Given the description of an element on the screen output the (x, y) to click on. 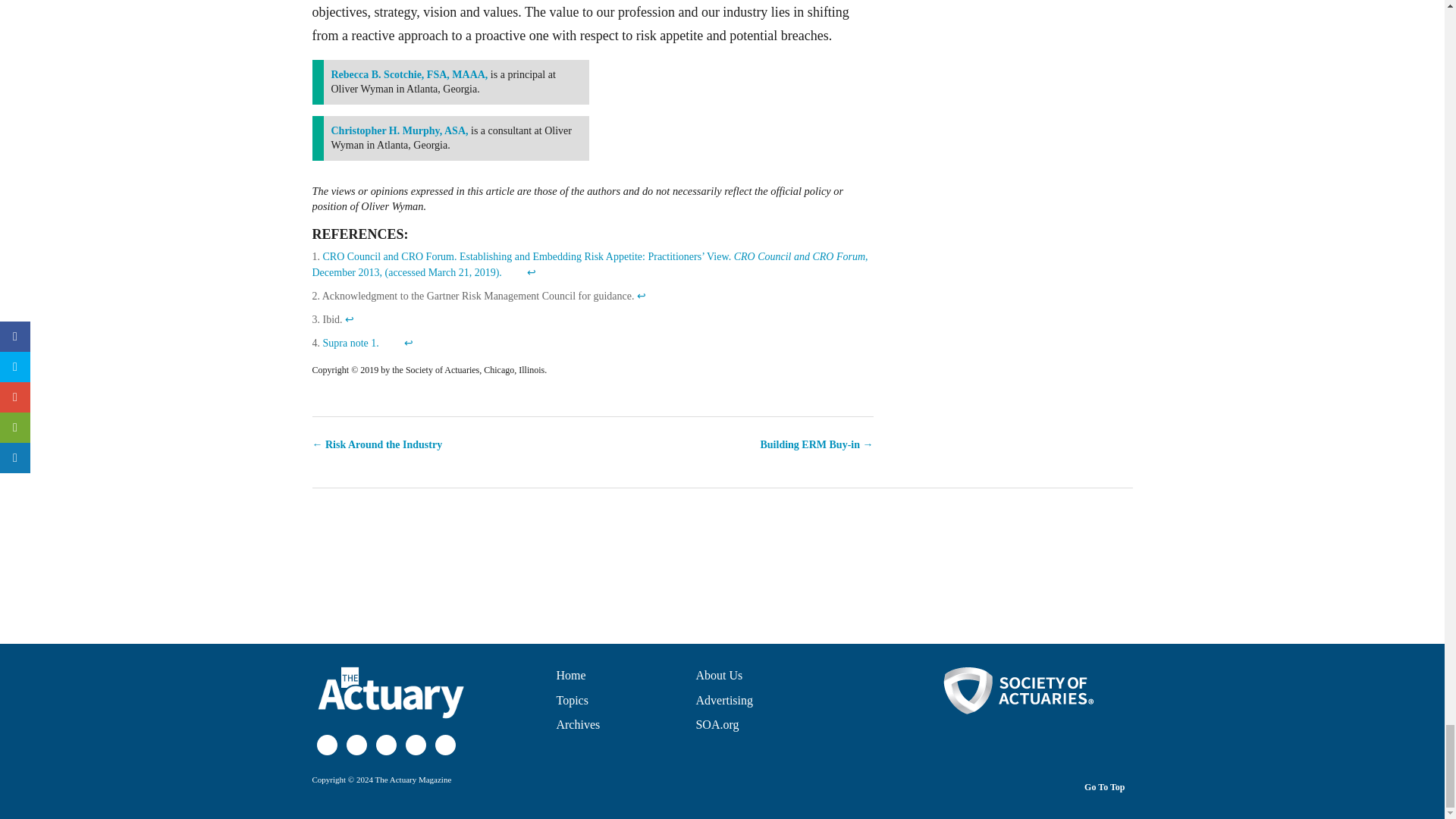
3rd party ad content (721, 560)
